Given the description of an element on the screen output the (x, y) to click on. 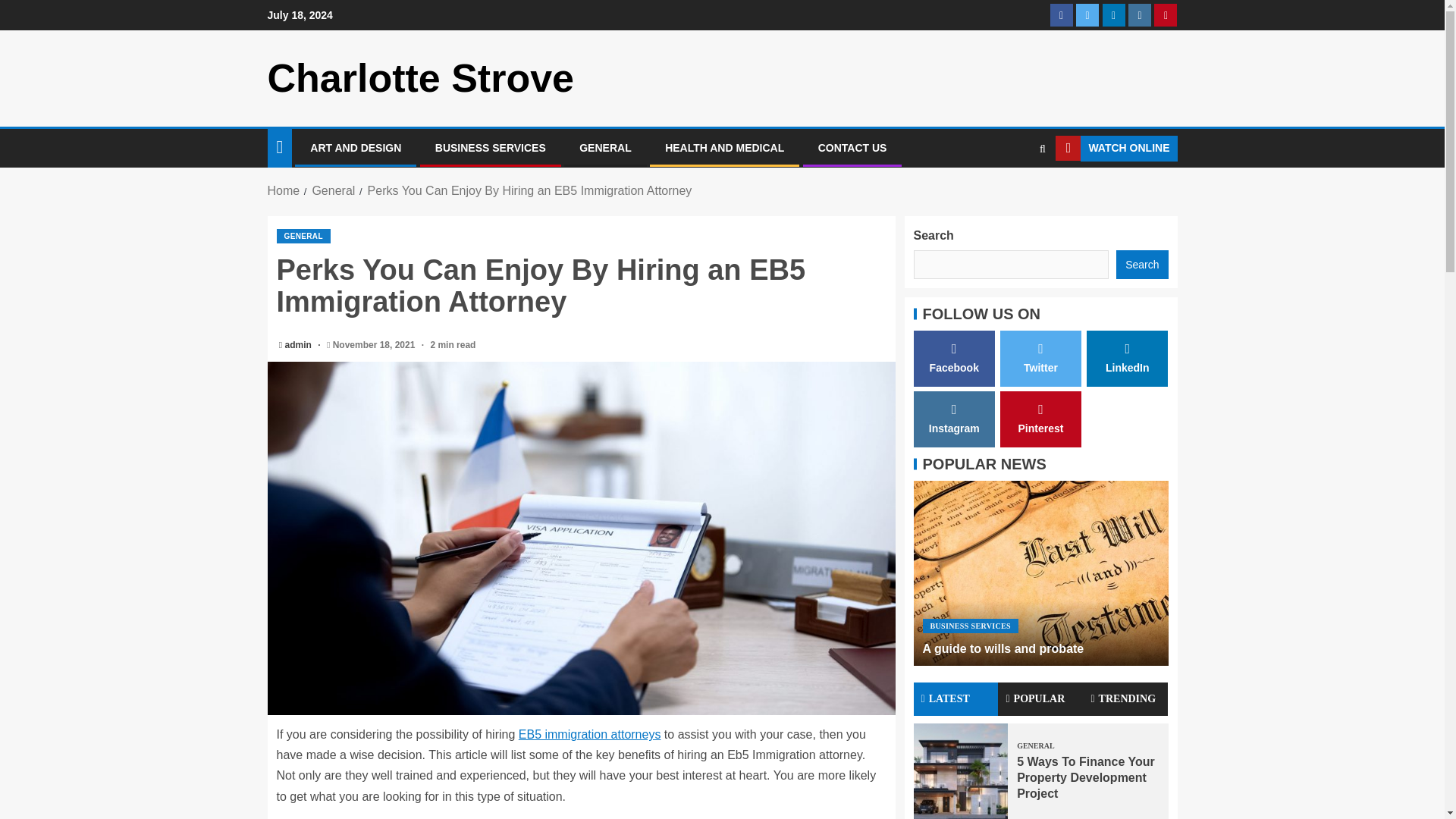
Charlotte Strove (419, 77)
BUSINESS SERVICES (490, 147)
Search (1141, 264)
GENERAL (303, 236)
GENERAL (604, 147)
Twitter (1040, 358)
Perks You Can Enjoy By Hiring an EB5 Immigration Attorney (530, 190)
Home (282, 190)
admin (299, 344)
General (333, 190)
Facebook (953, 358)
HEALTH AND MEDICAL (724, 147)
ART AND DESIGN (355, 147)
WATCH ONLINE (1115, 148)
Search (1013, 193)
